Given the description of an element on the screen output the (x, y) to click on. 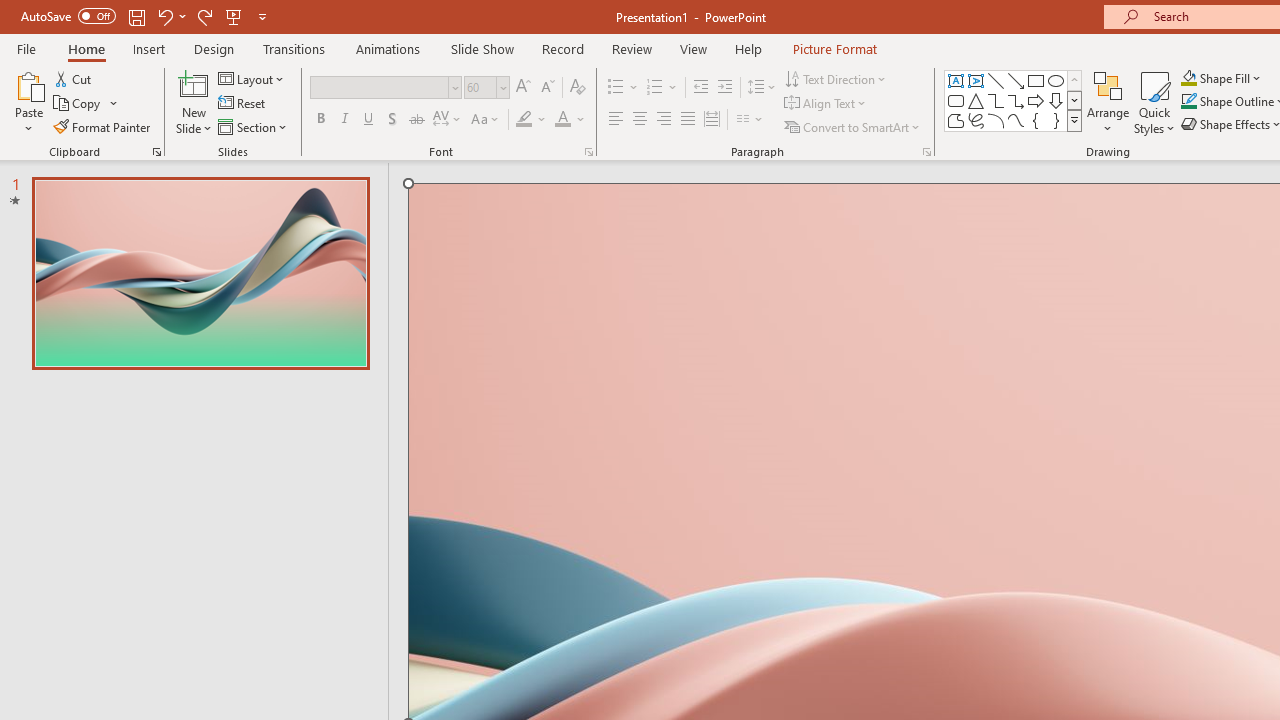
Shape Outline Blue, Accent 1 (1188, 101)
Shape Fill Orange, Accent 2 (1188, 78)
